Given the description of an element on the screen output the (x, y) to click on. 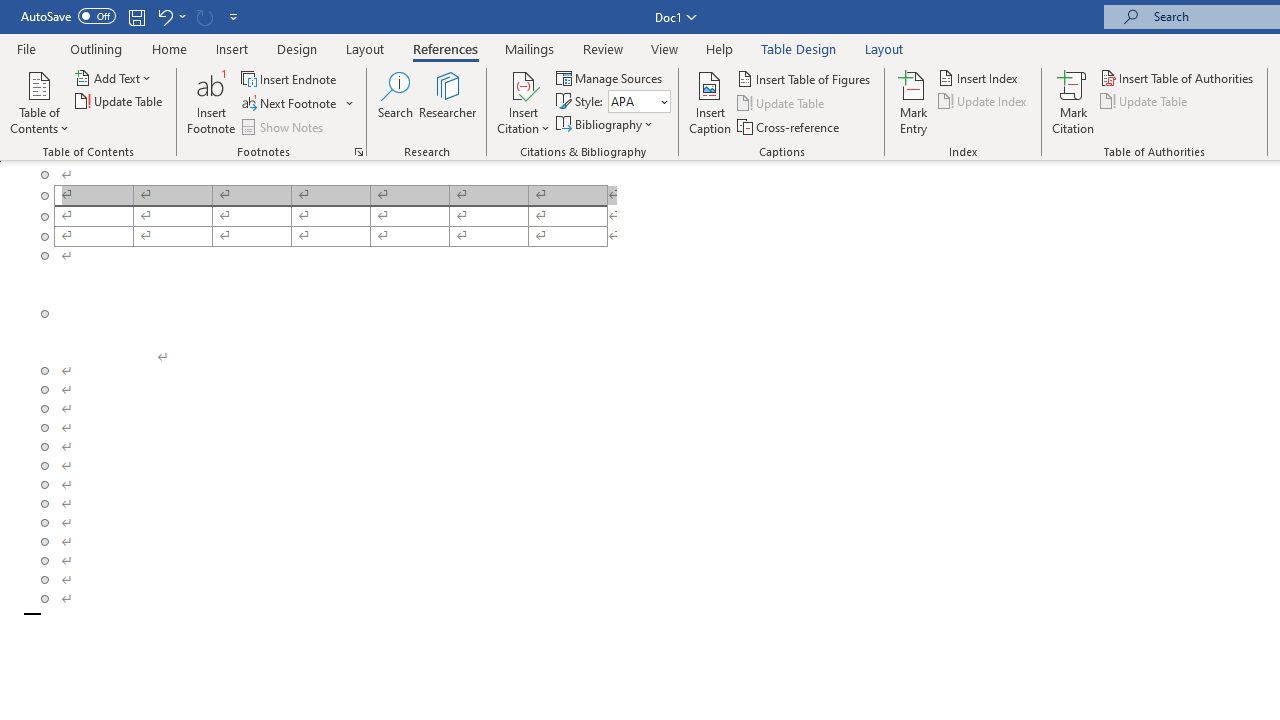
Undo Outline Move Up (170, 15)
Insert Index... (979, 78)
Style (632, 101)
Table of Contents (39, 102)
Outlining (95, 48)
Manage Sources... (610, 78)
Can't Repeat (204, 15)
Insert Table of Authorities... (1177, 78)
Update Table... (119, 101)
